Given the description of an element on the screen output the (x, y) to click on. 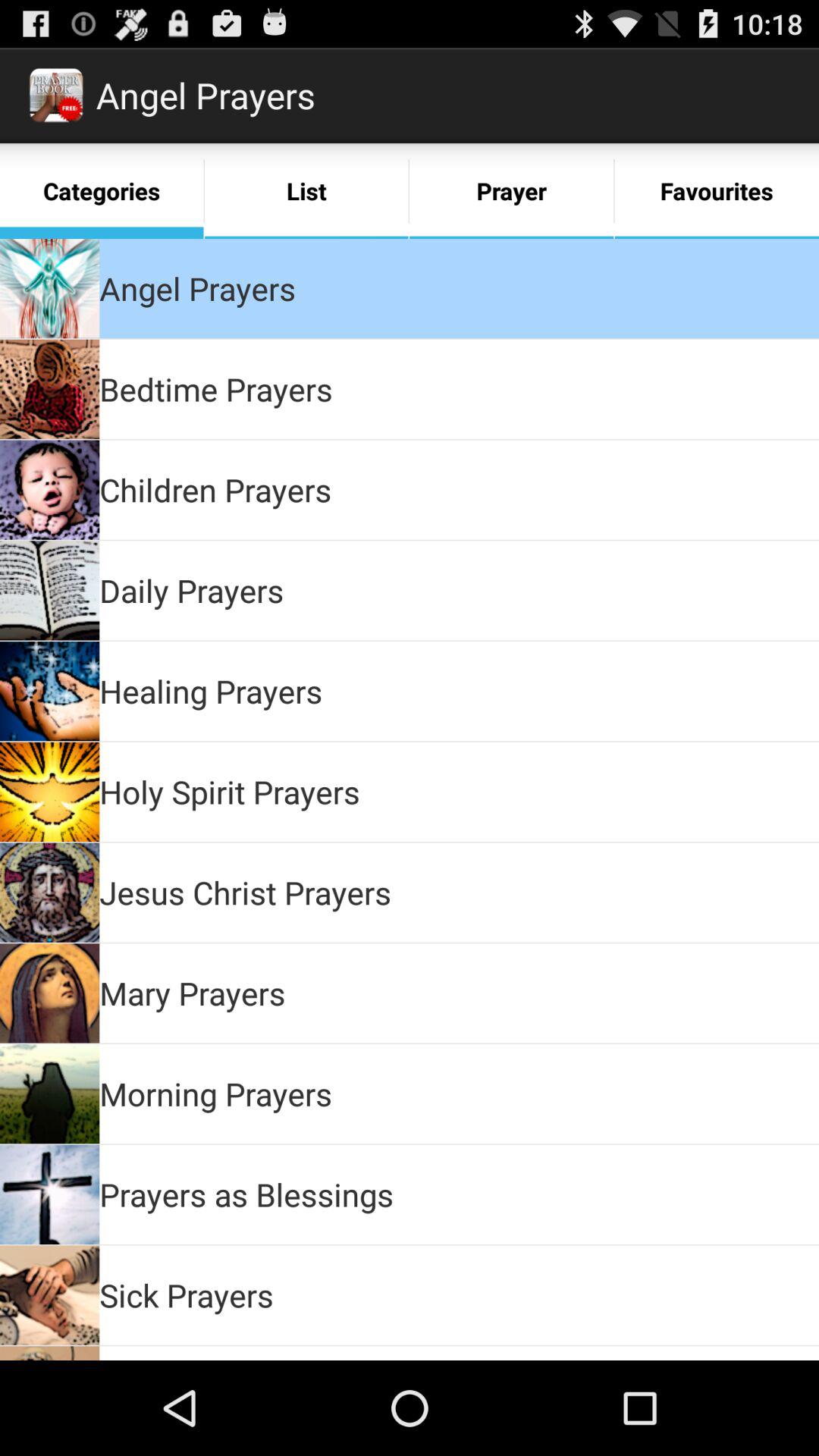
jump until the daily prayers item (191, 589)
